Given the description of an element on the screen output the (x, y) to click on. 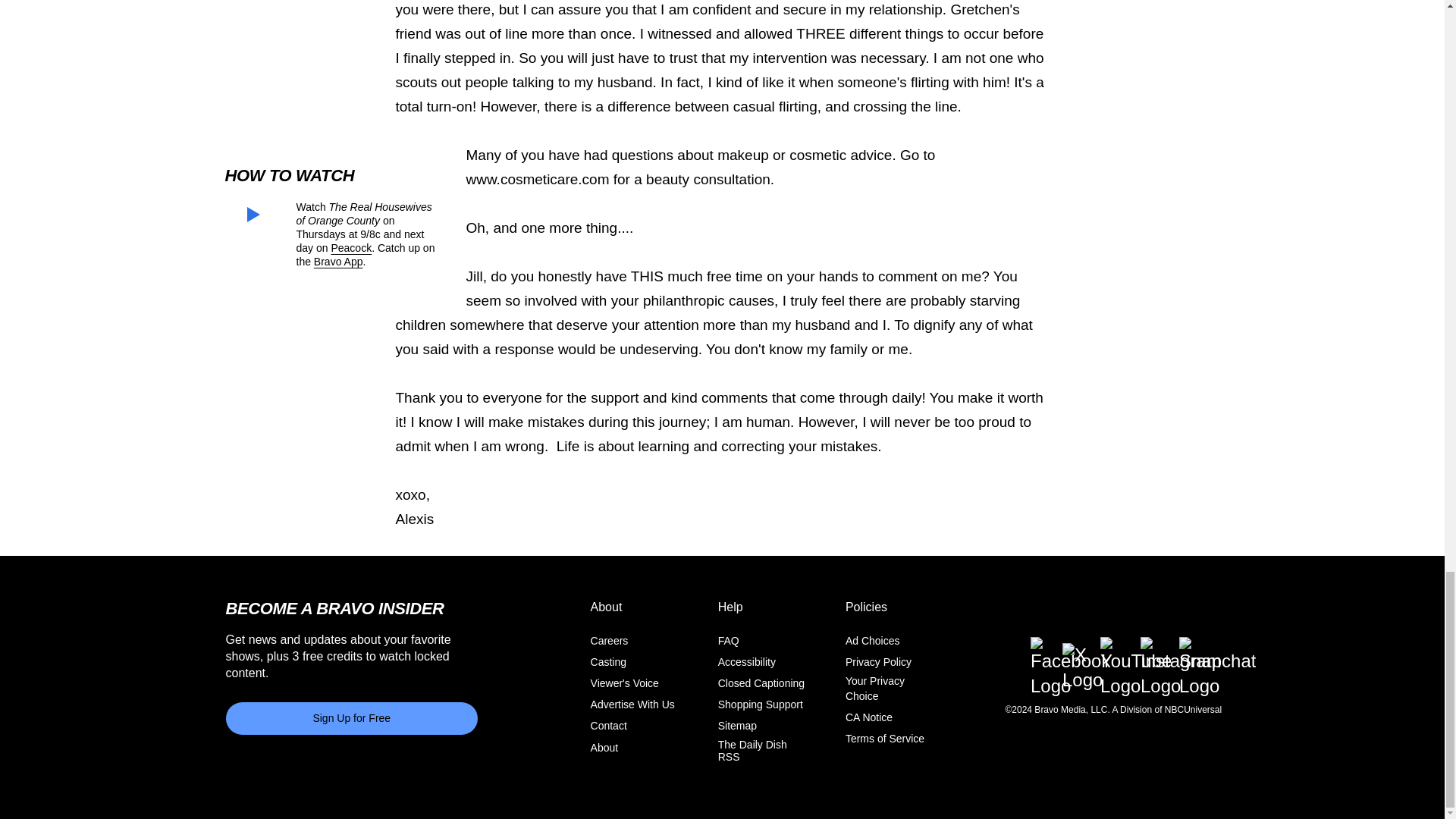
Closed Captioning (761, 683)
Sign Up for Free (352, 717)
Bravo App (338, 261)
Casting (608, 662)
Accessibility (746, 662)
Contact (609, 725)
FAQ (728, 640)
Careers (609, 640)
About (604, 746)
Peacock (350, 247)
